Given the description of an element on the screen output the (x, y) to click on. 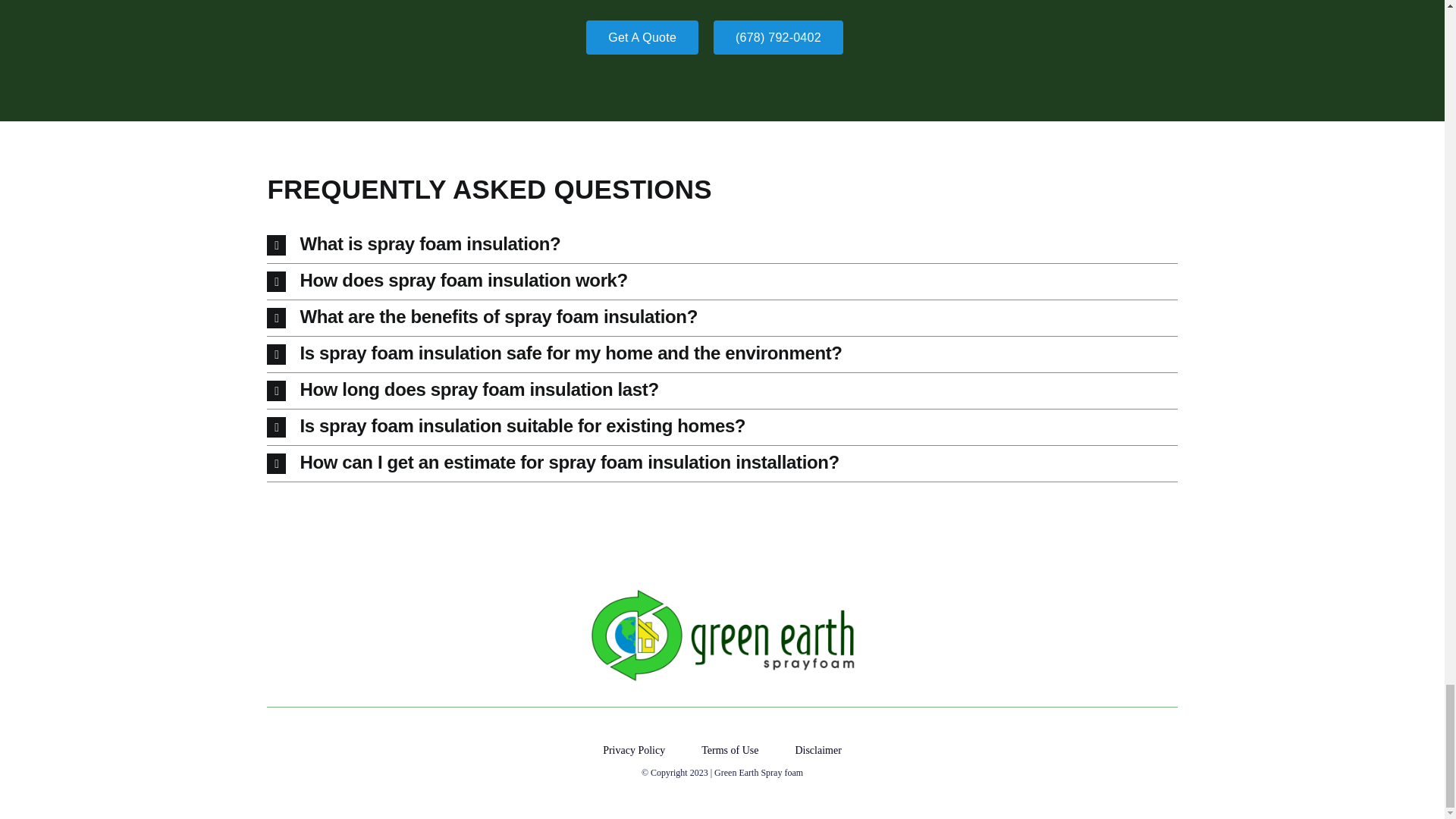
green earth (722, 635)
